Given the description of an element on the screen output the (x, y) to click on. 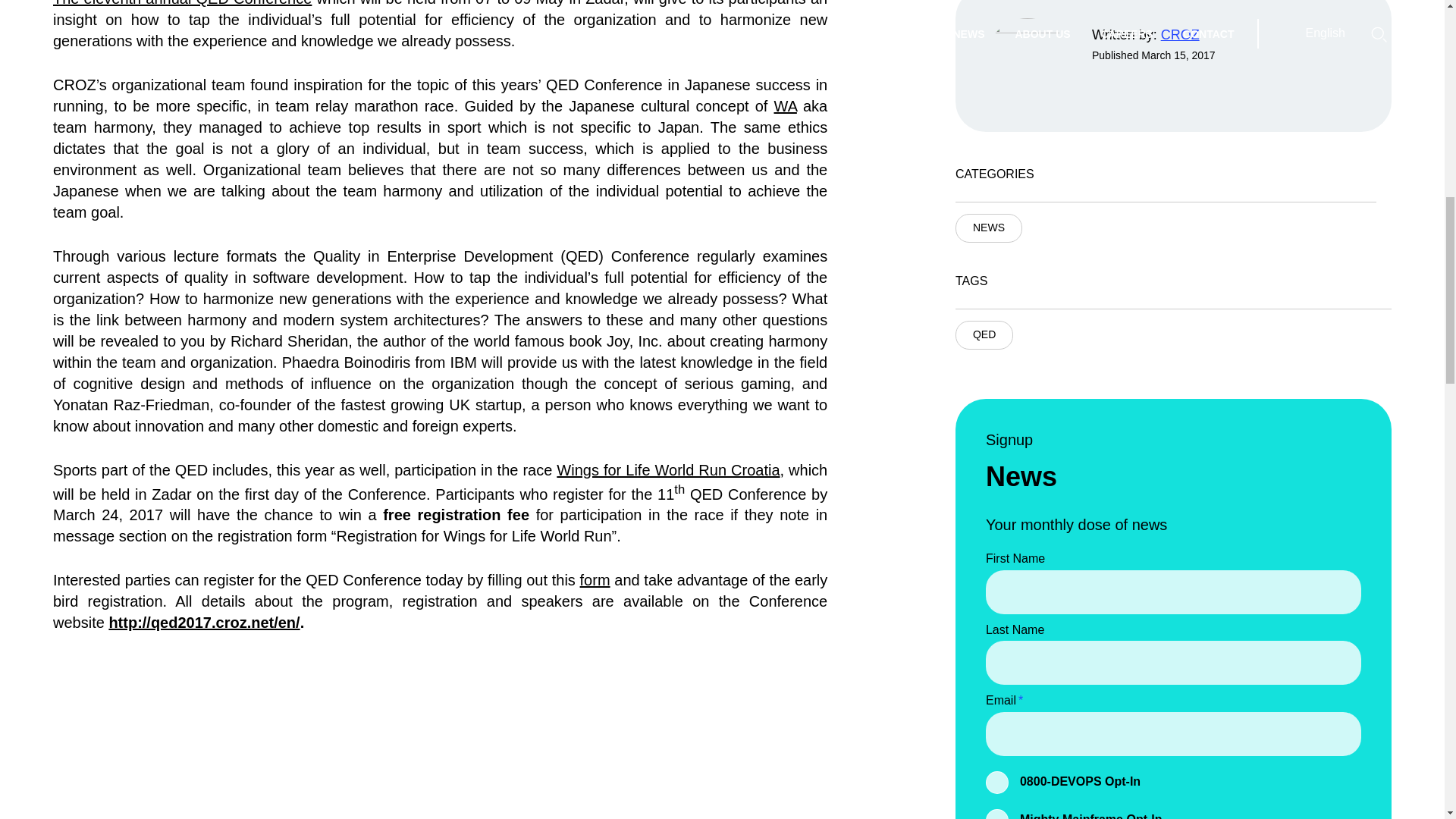
1 (997, 814)
QED (984, 335)
form (594, 579)
NEWS (988, 227)
WA (784, 105)
CROZ (1179, 34)
Wings for Life World Run Croatia (667, 469)
1 (997, 782)
The eleventh annual QED Conference (181, 3)
